Given the description of an element on the screen output the (x, y) to click on. 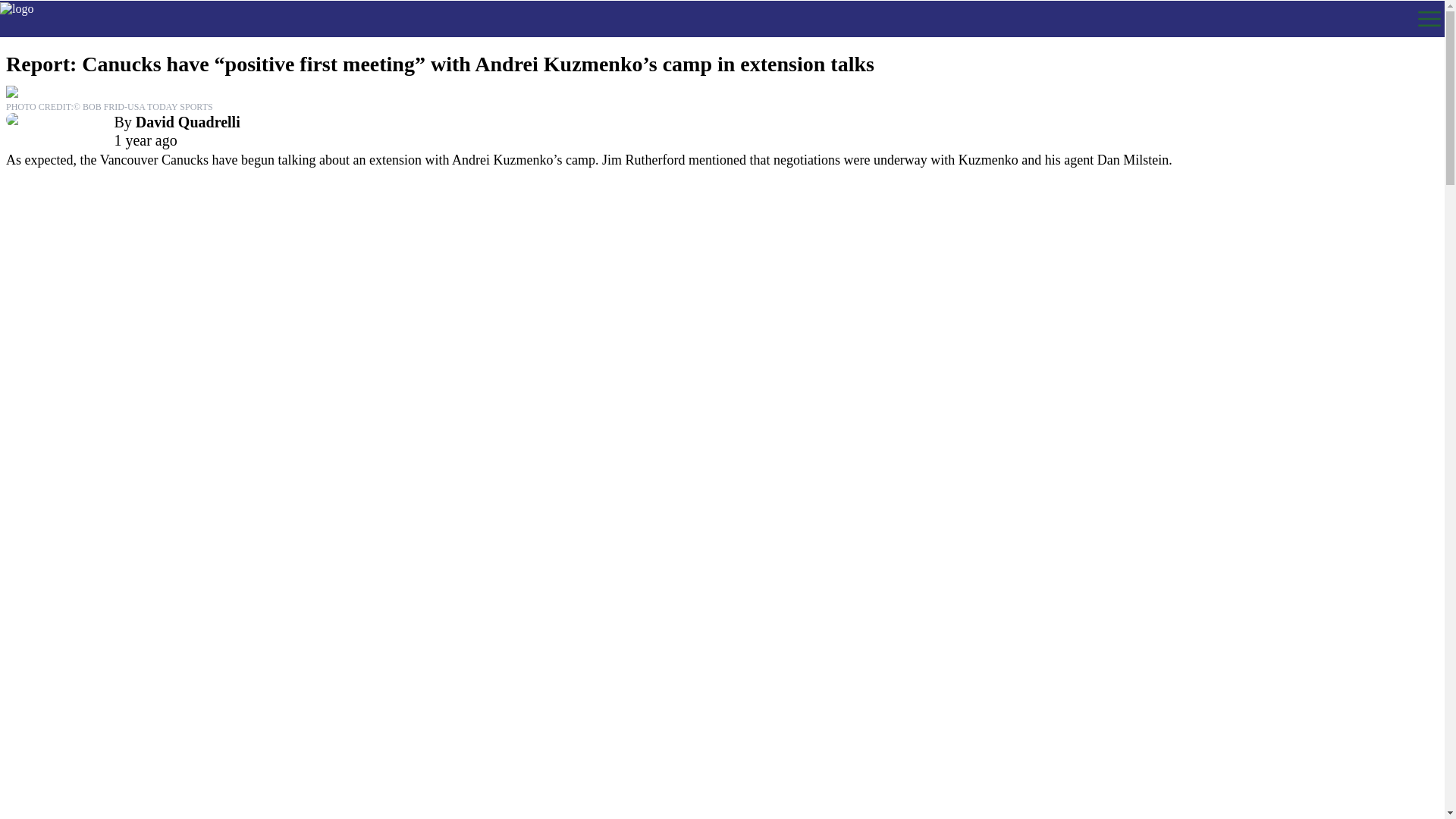
David Quadrelli (187, 121)
